Given the description of an element on the screen output the (x, y) to click on. 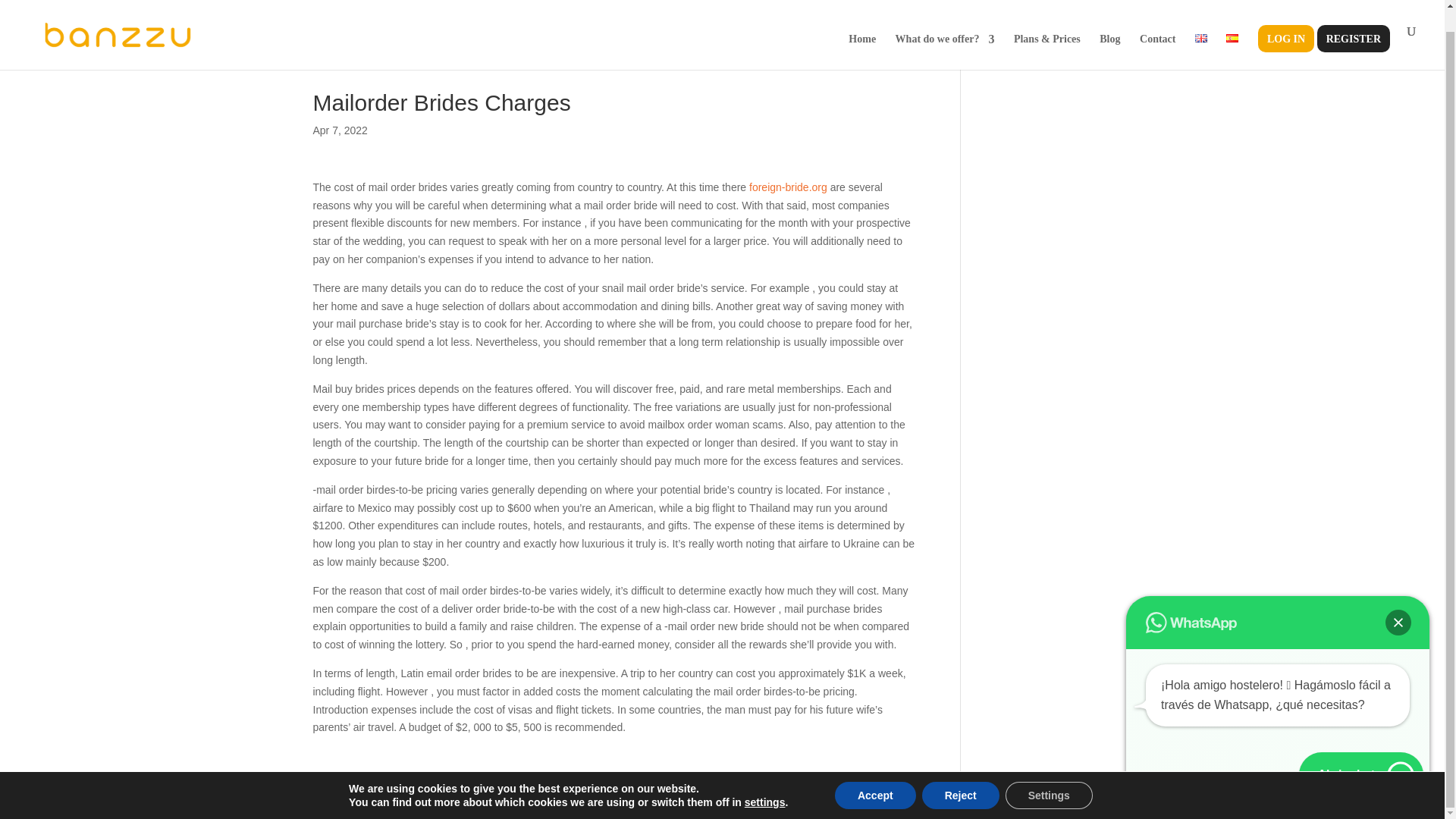
What do we offer? (944, 29)
Close (1398, 600)
Contact (1157, 29)
LOG IN (1285, 29)
foreign-bride.org (788, 186)
REGISTER (1353, 29)
